Given the description of an element on the screen output the (x, y) to click on. 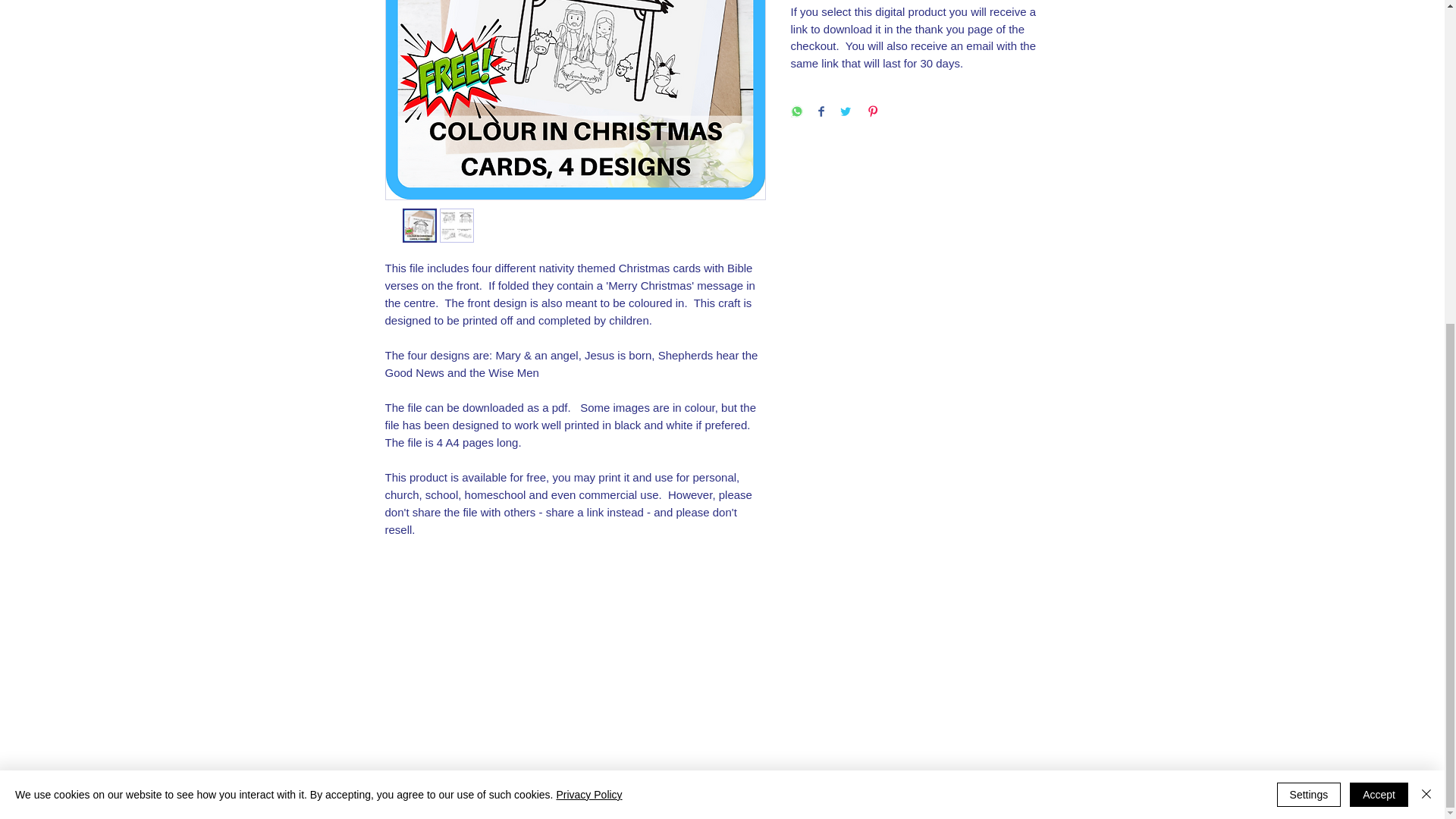
Privacy Policy (588, 265)
